Given the description of an element on the screen output the (x, y) to click on. 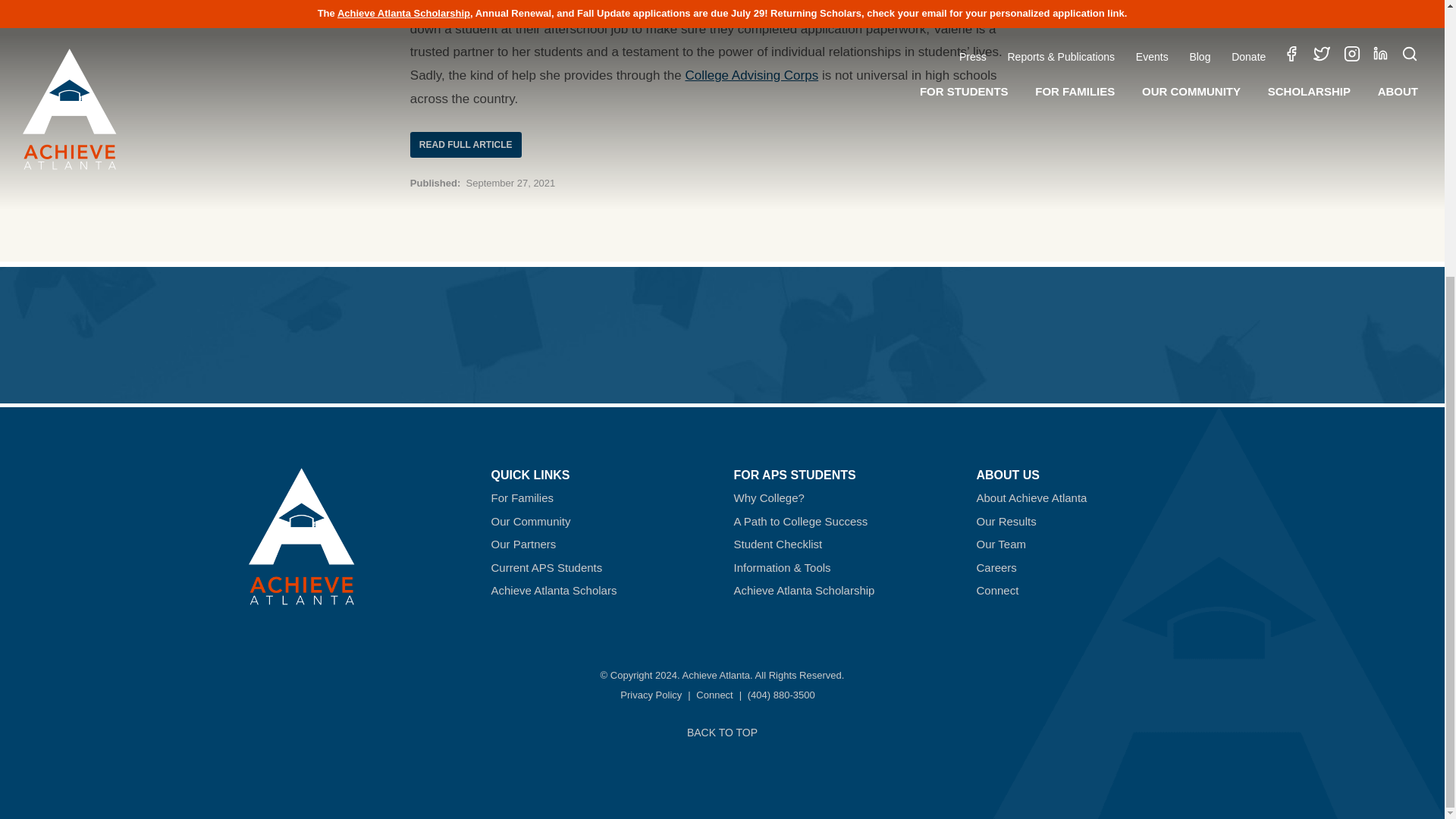
Achieve Atlanta (301, 592)
